Given the description of an element on the screen output the (x, y) to click on. 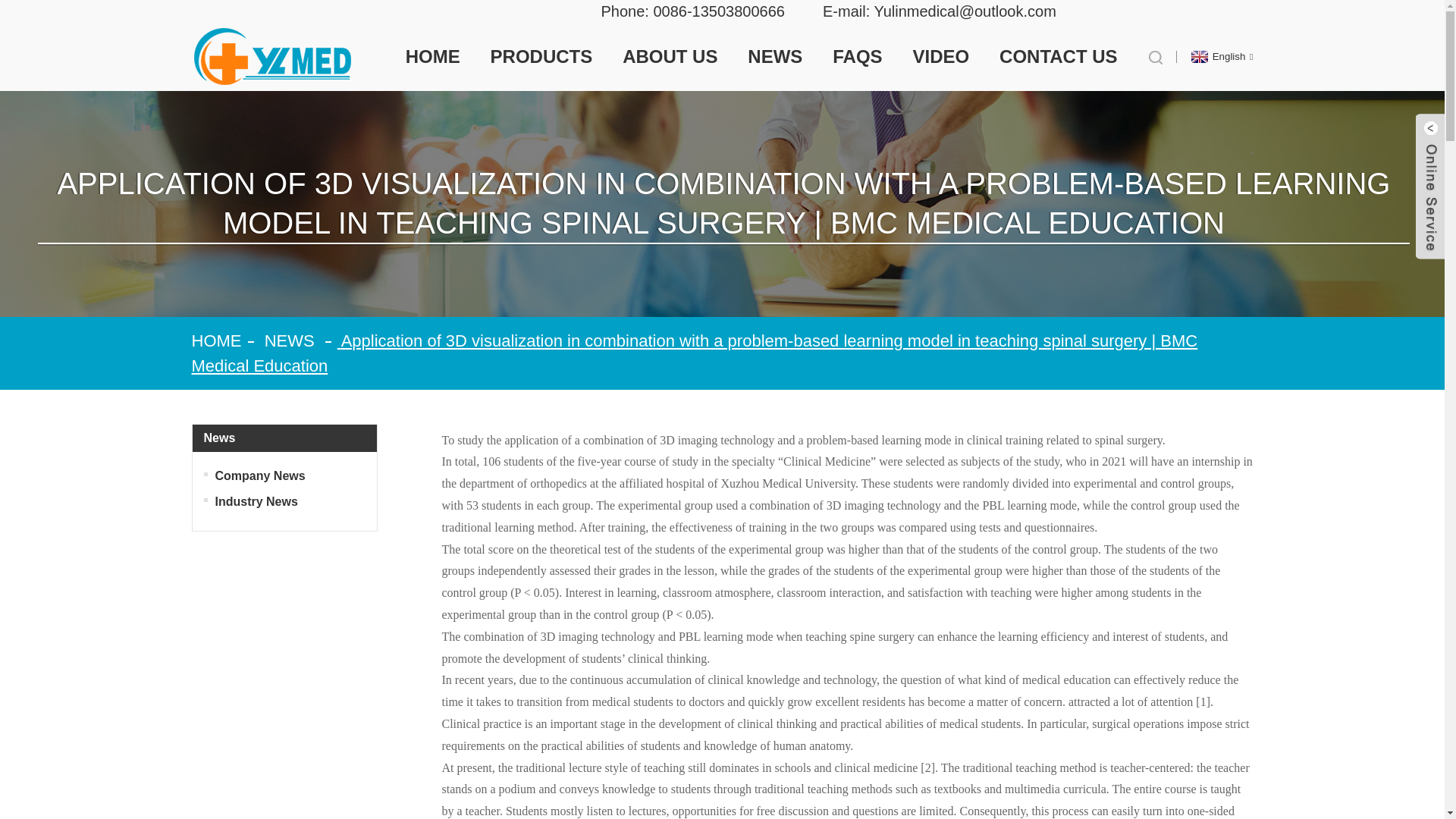
Phone: 0086-13503800666 (691, 11)
English (1220, 56)
VIDEO (940, 56)
PRODUCTS (541, 56)
ABOUT US (670, 56)
NEWS (775, 56)
HOME (433, 56)
CONTACT US (1058, 56)
FAQS (857, 56)
